Given the description of an element on the screen output the (x, y) to click on. 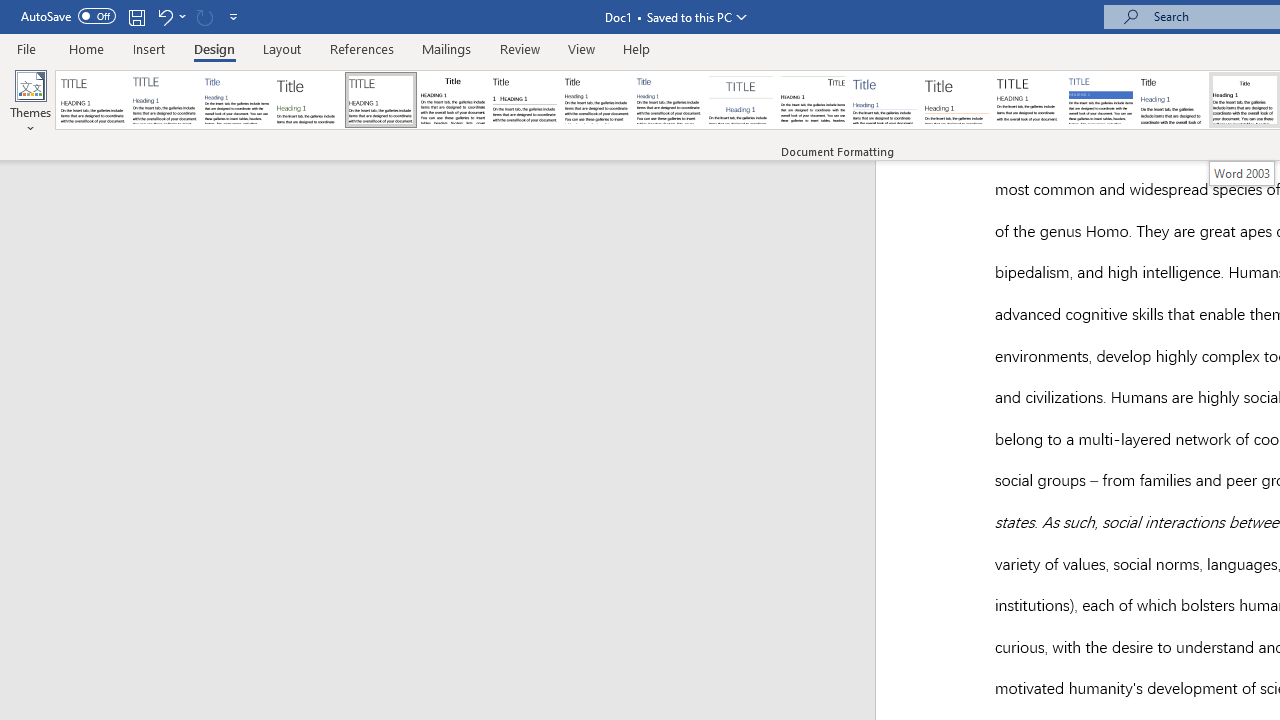
Undo Apply Quick Style Set (170, 15)
Word 2003 (1241, 173)
Black & White (Capitalized) (381, 100)
Minimalist (1028, 100)
Centered (740, 100)
Shaded (1100, 100)
Word (1172, 100)
